Given the description of an element on the screen output the (x, y) to click on. 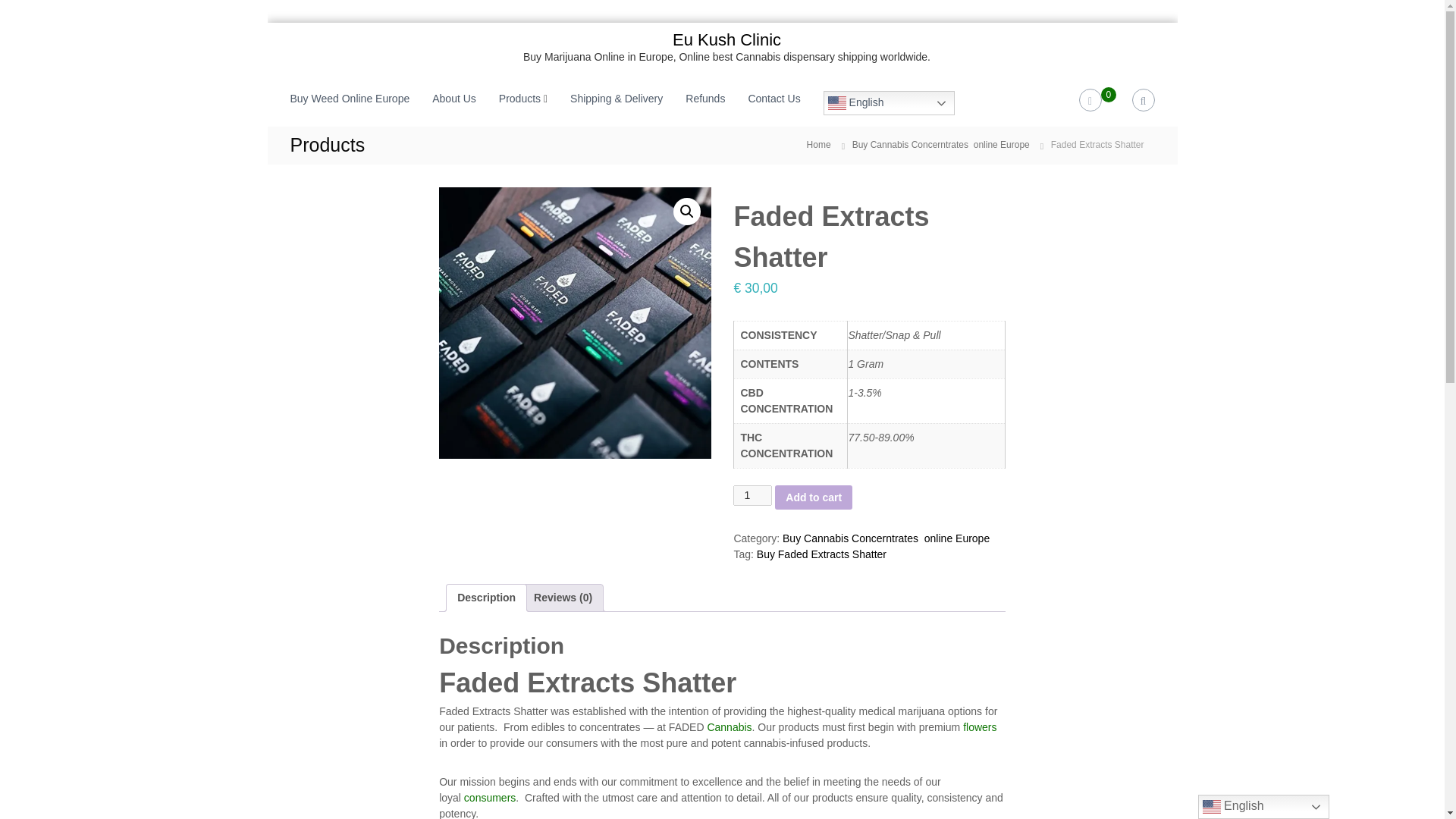
Products (519, 98)
Eu Kush Clinic (726, 39)
Buy Weed Online Europe (349, 98)
Refunds (705, 98)
About Us (454, 98)
Contact Us (773, 98)
1 (752, 495)
